Given the description of an element on the screen output the (x, y) to click on. 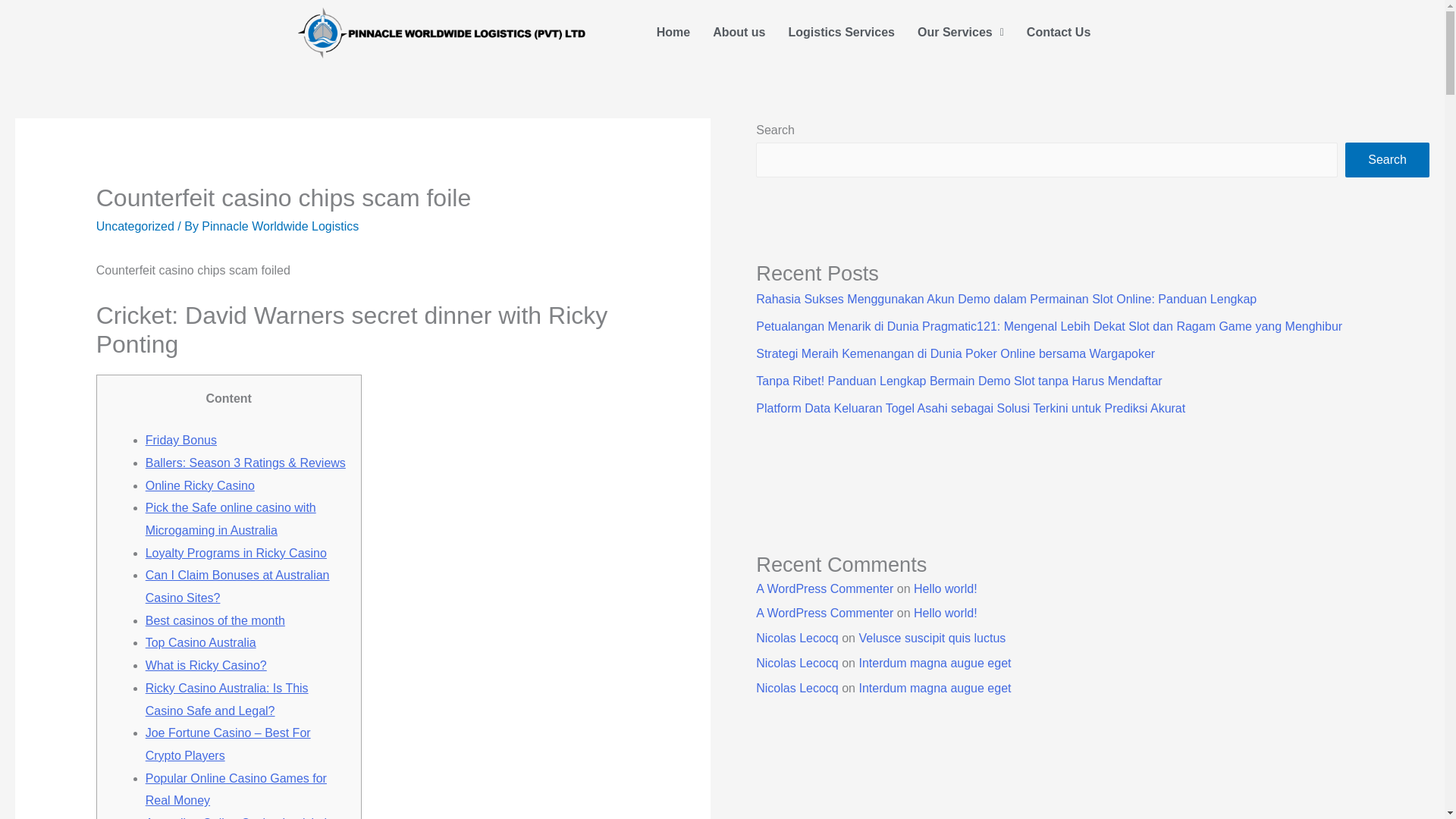
Australian Online Casino Legislation (242, 817)
What is Ricky Casino? (205, 665)
Can I Claim Bonuses at Australian Casino Sites? (237, 586)
Home (673, 32)
Contact Us (1058, 32)
Top Casino Australia (200, 642)
Online Ricky Casino (199, 485)
View all posts by Pinnacle Worldwide Logistics (280, 226)
Uncategorized (135, 226)
Loyalty Programs in Ricky Casino (235, 553)
